Given the description of an element on the screen output the (x, y) to click on. 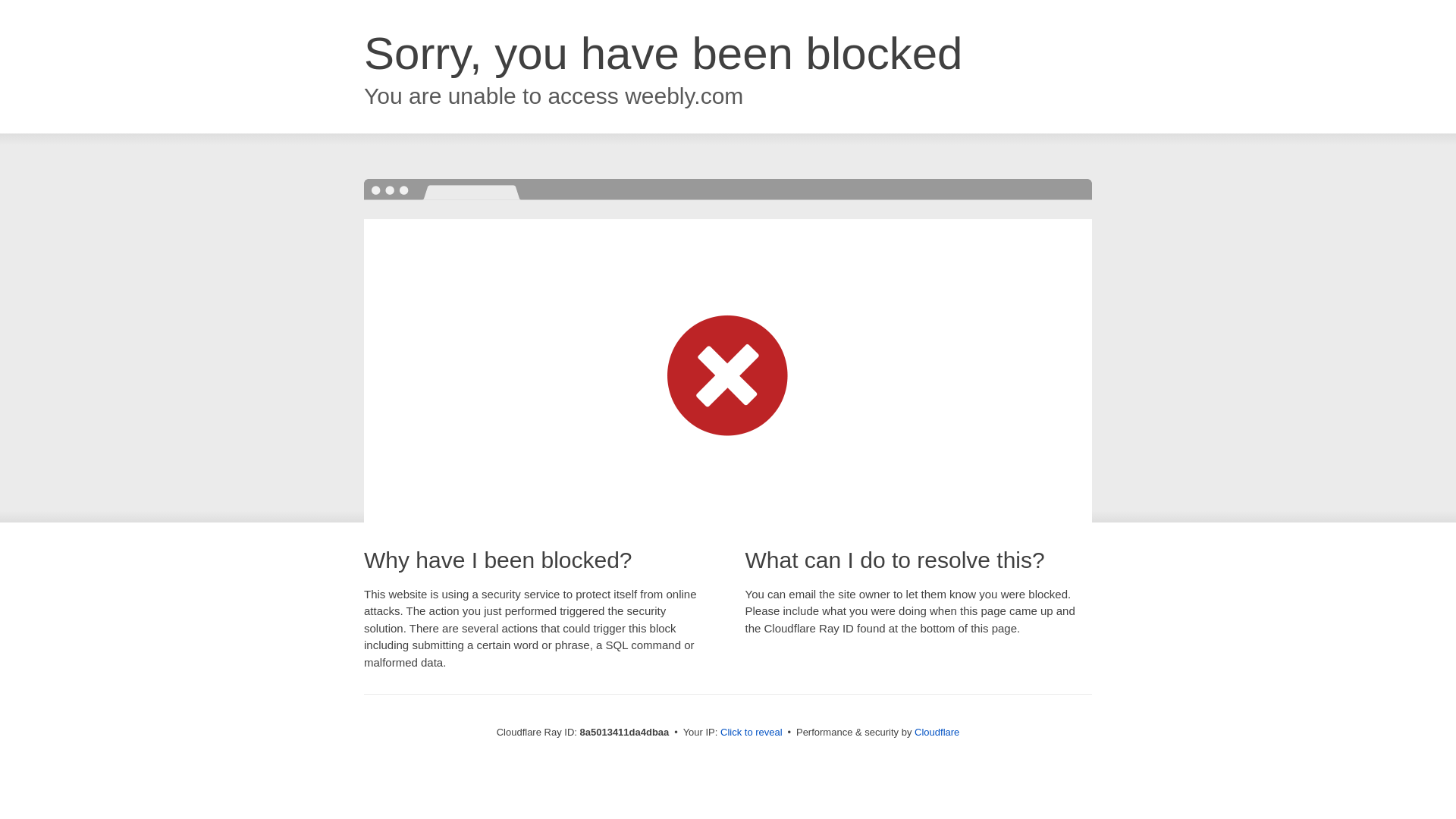
Cloudflare (936, 731)
Click to reveal (751, 732)
